Given the description of an element on the screen output the (x, y) to click on. 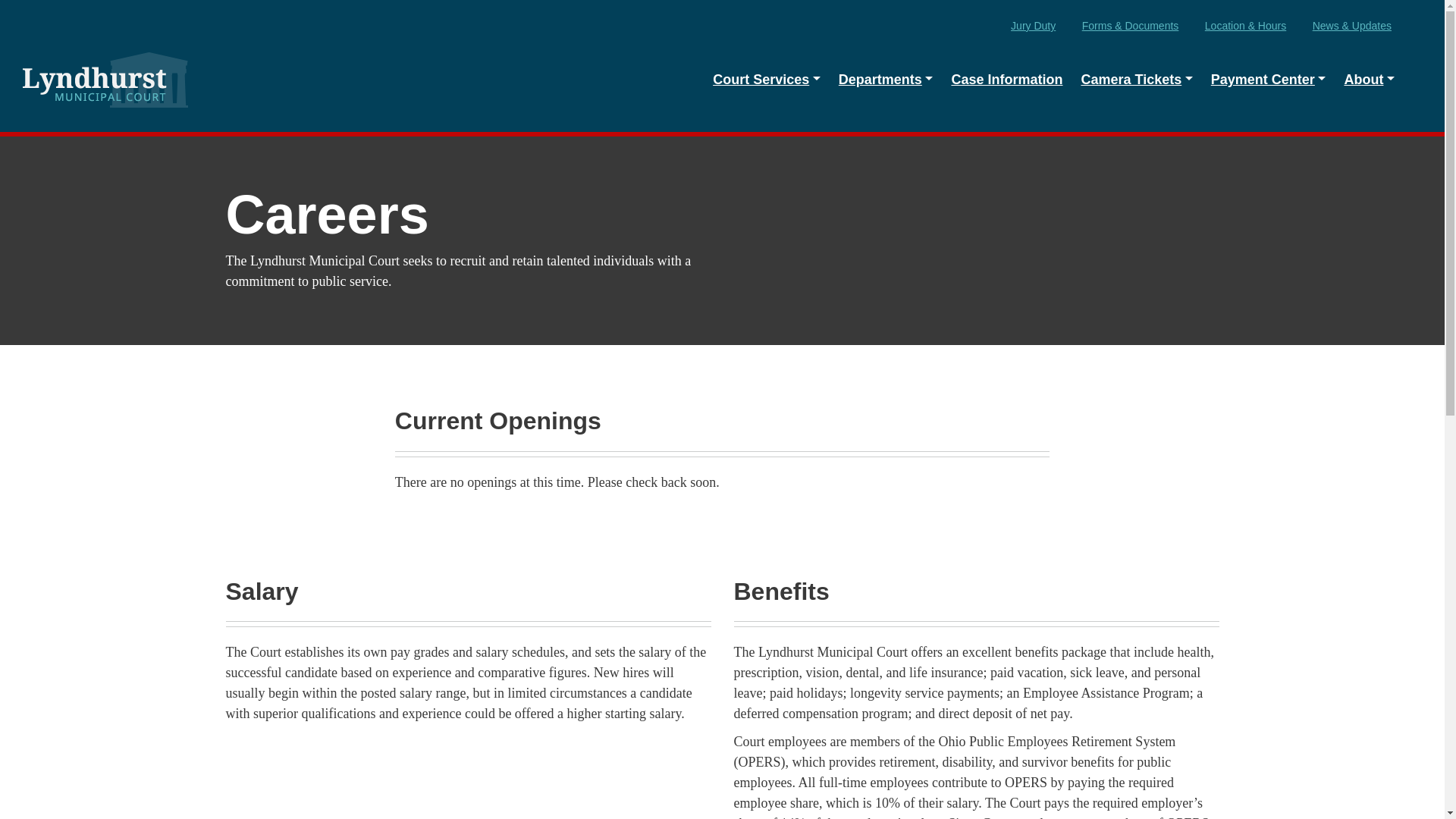
Court Services (766, 79)
Payment Center (1268, 79)
Case Information (1006, 79)
Departments (885, 79)
Camera Tickets (1136, 79)
Search (1412, 69)
Jury Duty (1032, 25)
About (1369, 79)
